Given the description of an element on the screen output the (x, y) to click on. 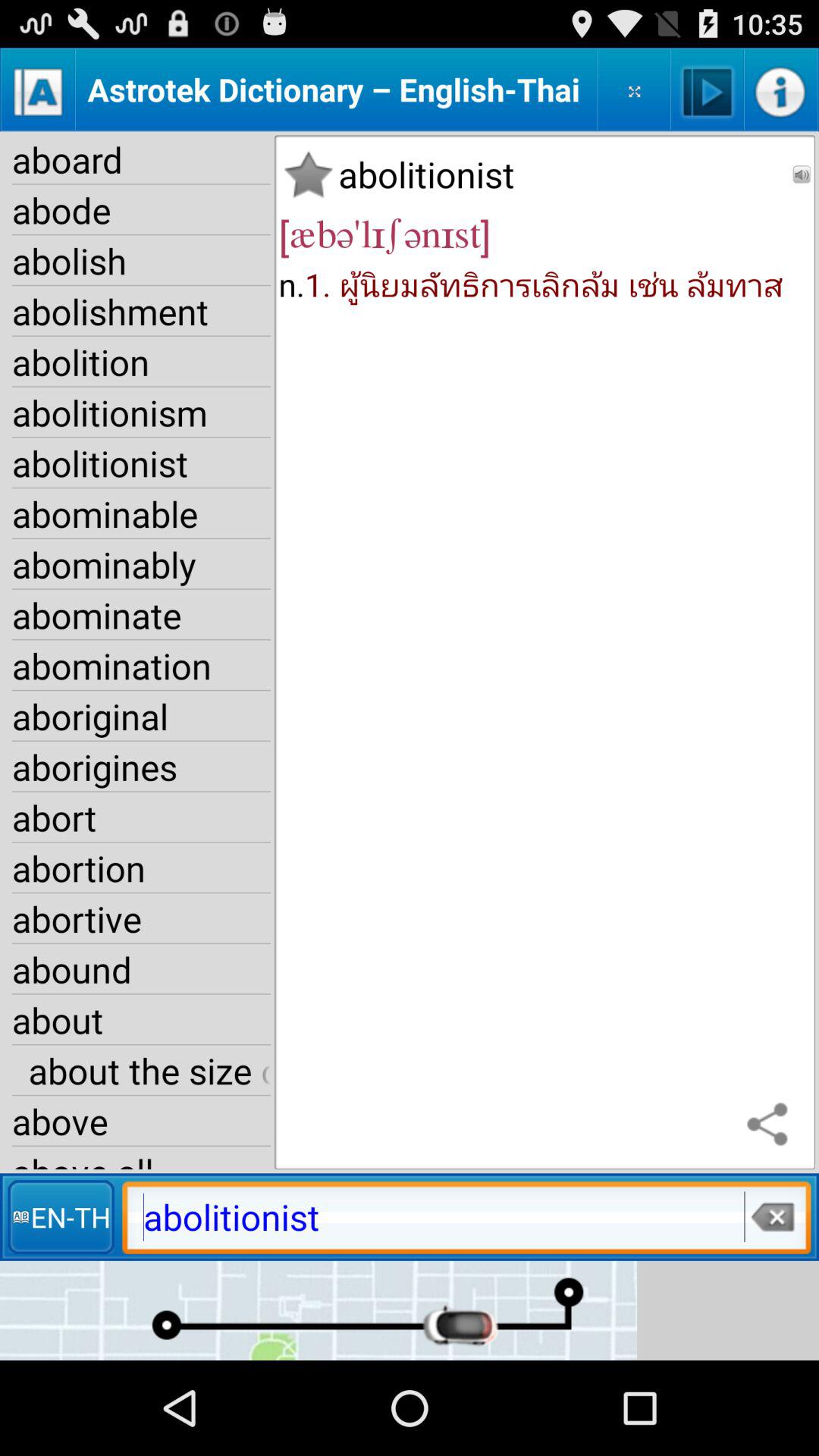
swipe to the abode item (140, 209)
